Given the description of an element on the screen output the (x, y) to click on. 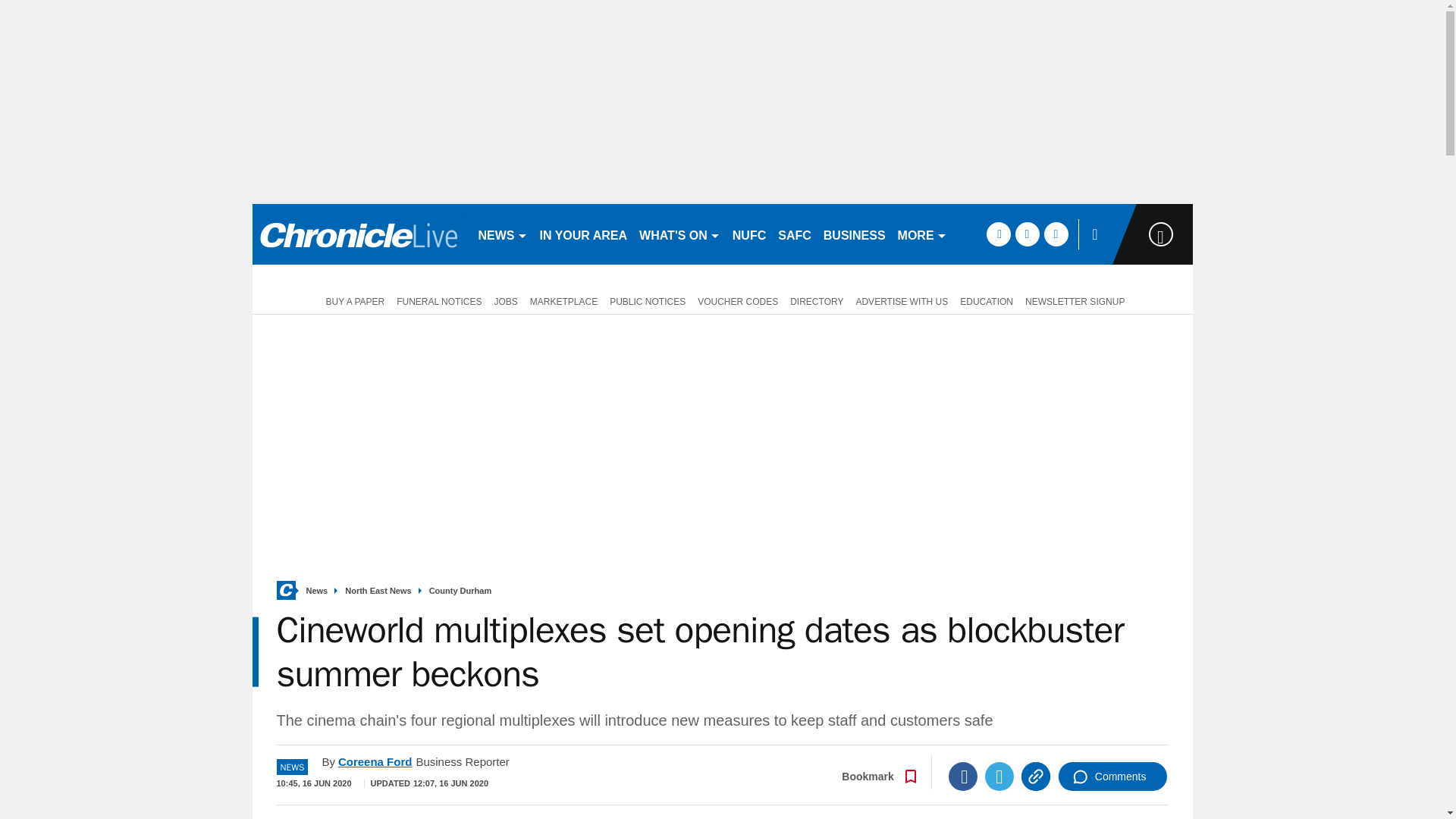
twitter (1026, 233)
NEWS (501, 233)
WHAT'S ON (679, 233)
IN YOUR AREA (583, 233)
Twitter (999, 776)
facebook (997, 233)
Comments (1112, 776)
instagram (1055, 233)
nechronicle (357, 233)
BUSINESS (853, 233)
